Given the description of an element on the screen output the (x, y) to click on. 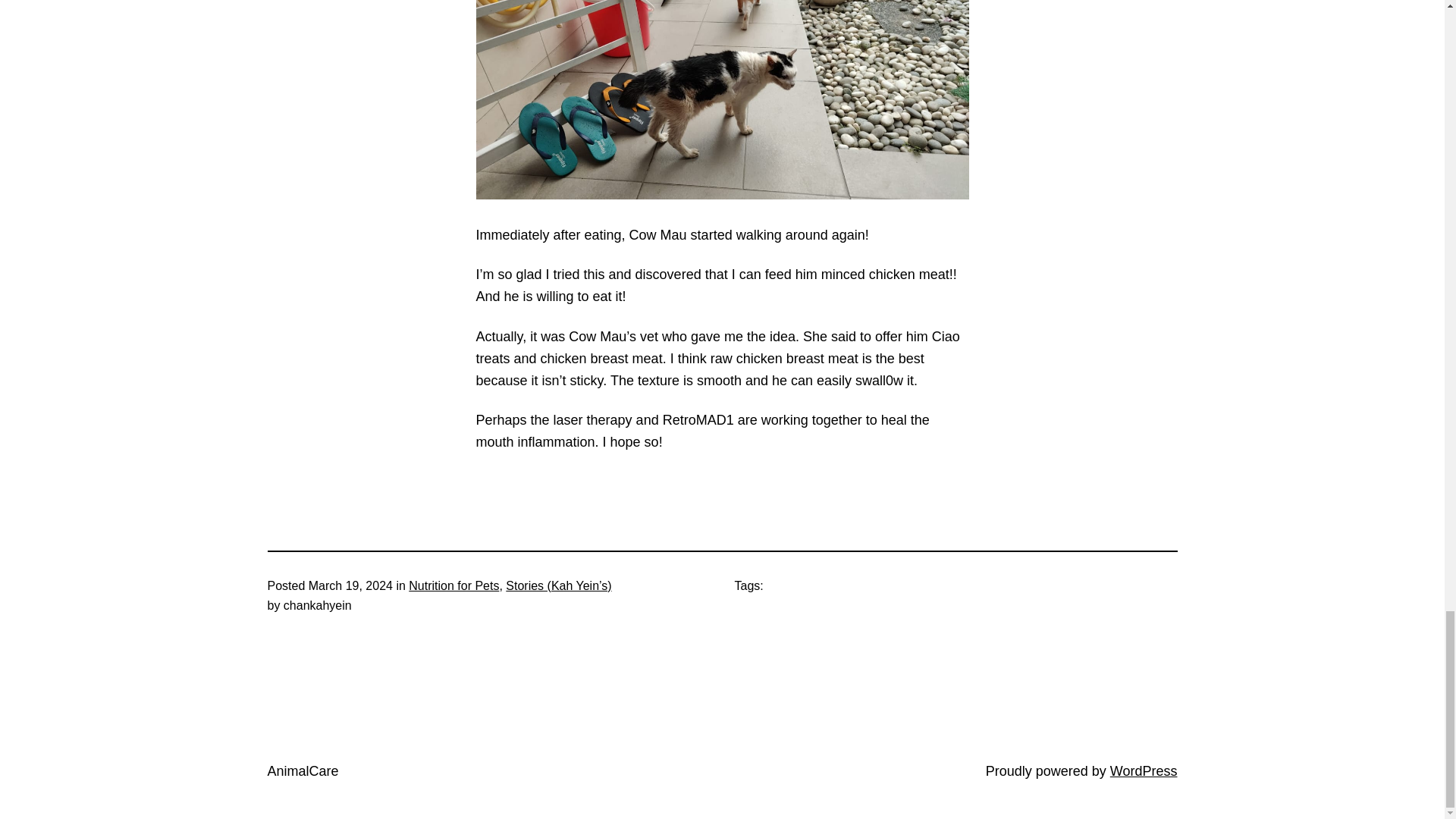
Nutrition for Pets (454, 585)
WordPress (1143, 770)
AnimalCare (301, 770)
